Given the description of an element on the screen output the (x, y) to click on. 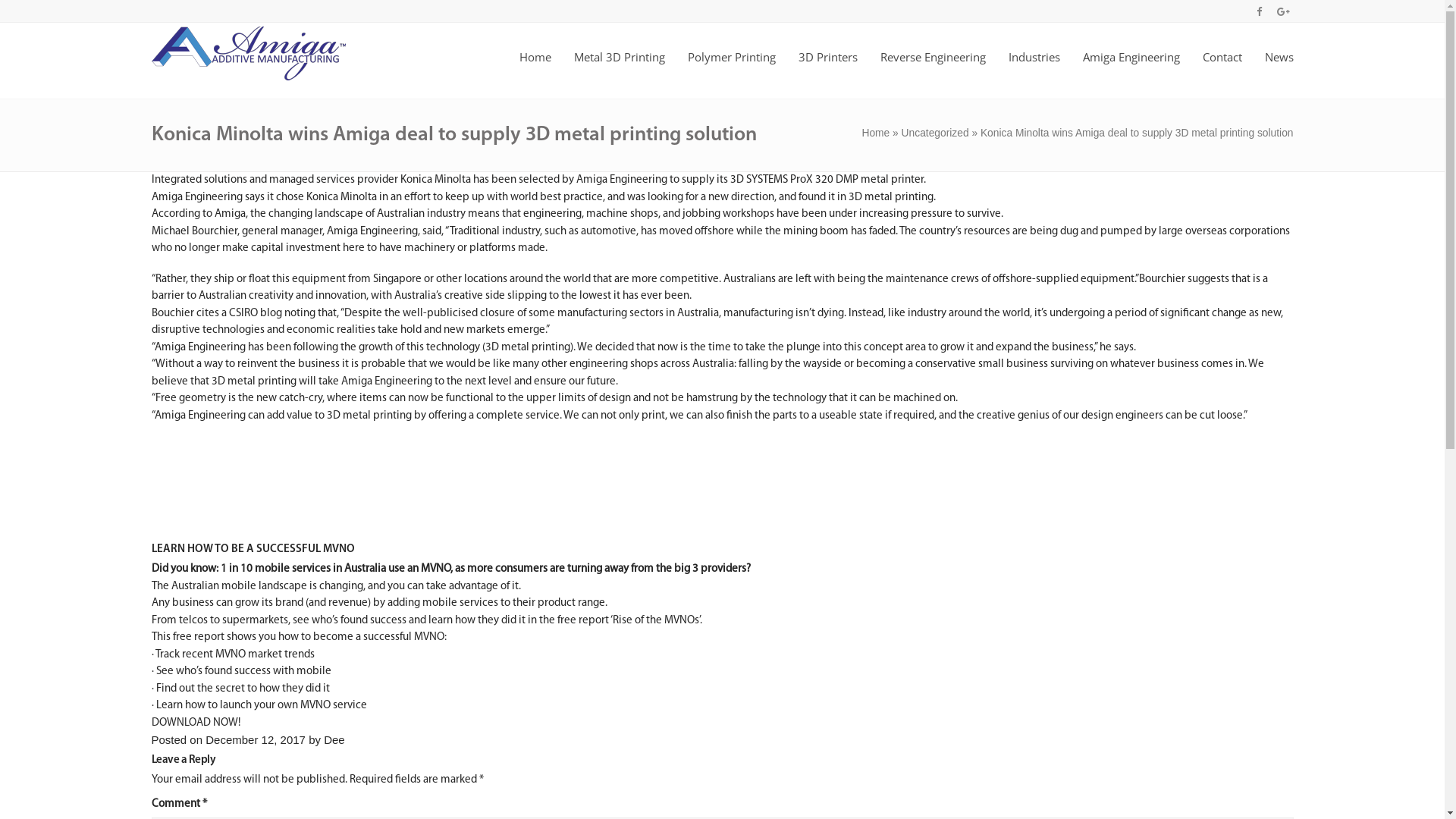
Amiga Engineering Element type: text (1130, 45)
Polymer Printing Element type: text (731, 45)
Contact Element type: text (1222, 45)
Metal 3D Printing Element type: text (618, 45)
News Element type: text (1278, 45)
Dee Element type: text (334, 739)
Reverse Engineering Element type: text (932, 45)
Uncategorized Element type: text (935, 132)
3D Printers Element type: text (826, 45)
Industries Element type: text (1034, 45)
Facebook Cross Domain Communication Frame Element type: hover (265, 481)
Home Element type: text (534, 45)
December 12, 2017 Element type: text (255, 739)
Home Element type: text (875, 132)
DOWNLOAD NOW! Element type: text (195, 722)
